Given the description of an element on the screen output the (x, y) to click on. 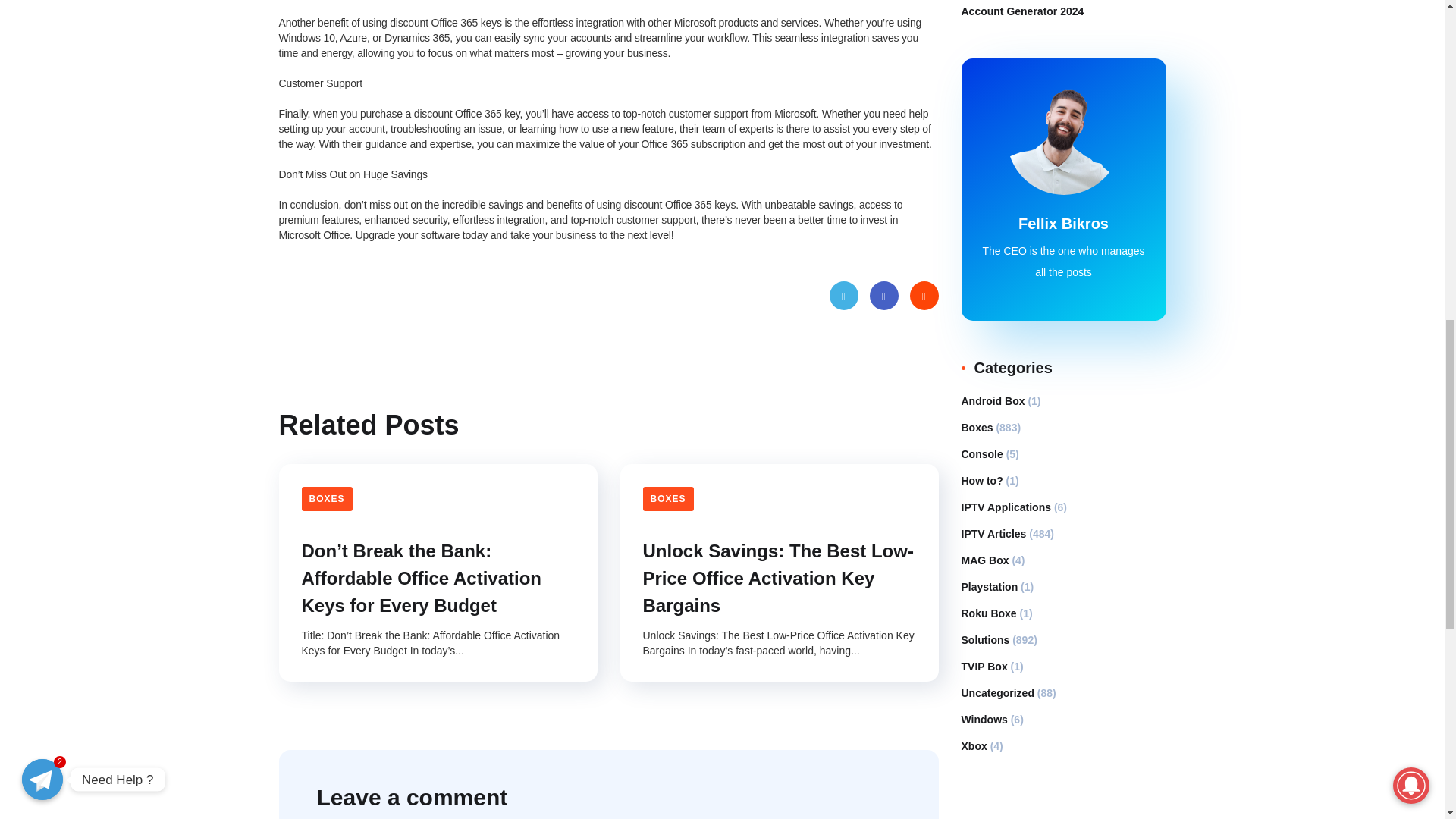
Reddit (924, 295)
Reddit (924, 295)
Twitter (844, 295)
Facebook (883, 295)
BOXES (326, 498)
BOXES (668, 498)
Facebook (883, 295)
Twitter (844, 295)
